Given the description of an element on the screen output the (x, y) to click on. 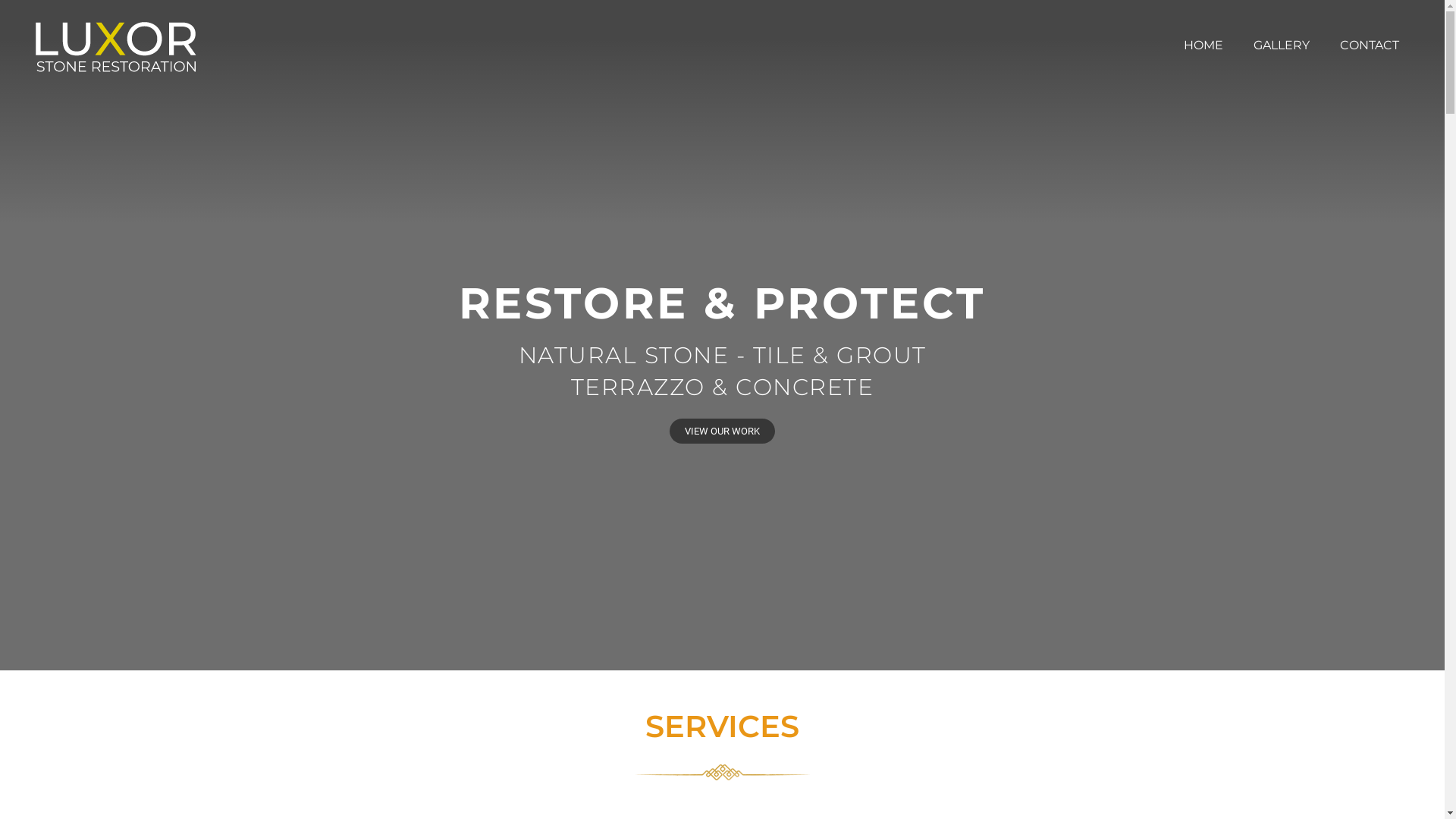
GALLERY Element type: text (1281, 44)
VIEW OUR WORK Element type: text (722, 430)
CONTACT Element type: text (1369, 44)
HOME Element type: text (1203, 44)
